Given the description of an element on the screen output the (x, y) to click on. 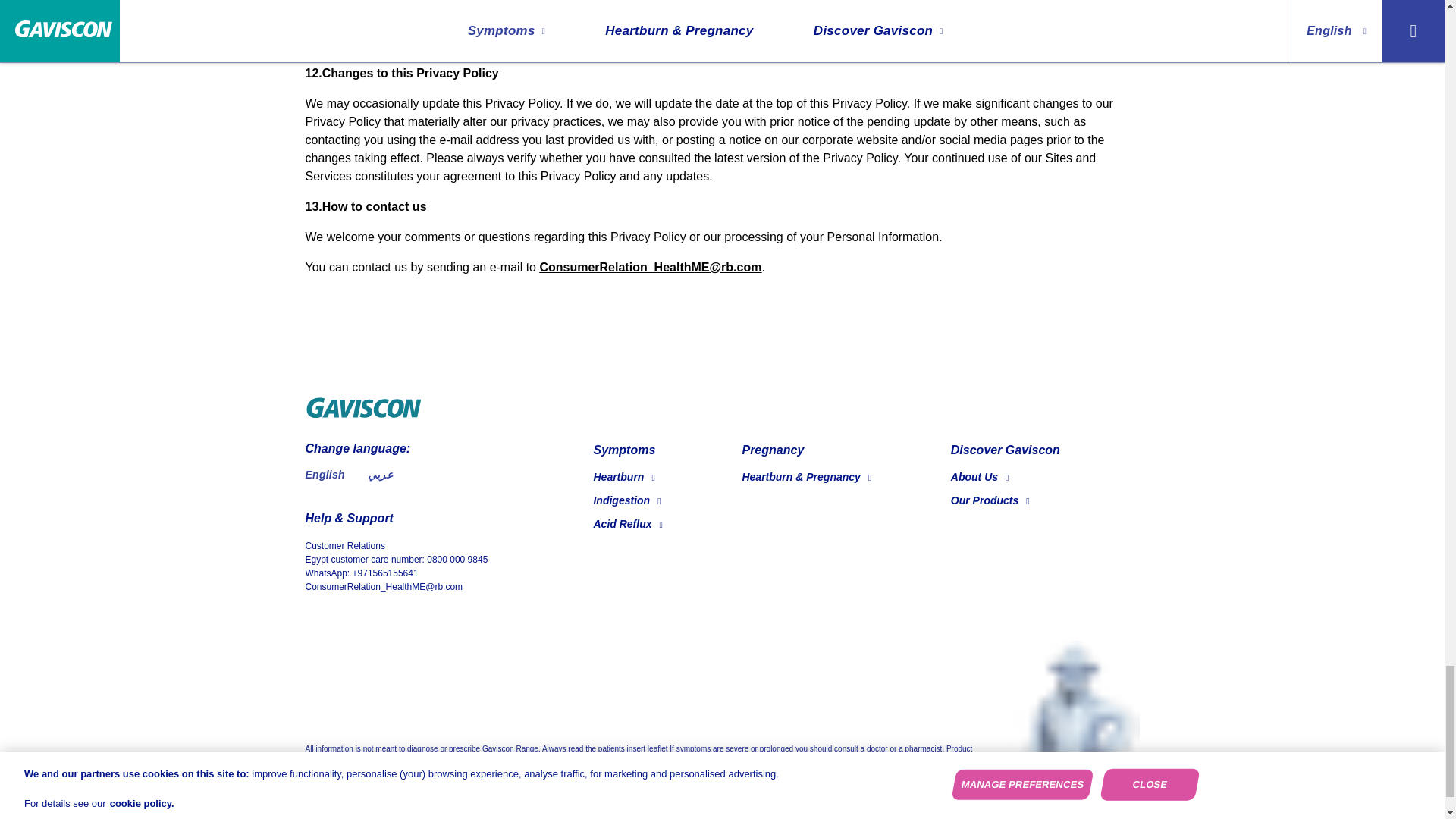
Indigestion (626, 500)
About Us (979, 476)
Our Products (989, 500)
Heartburn (622, 476)
Discover Gaviscon (1004, 449)
Acid Reflux (627, 523)
English (323, 474)
